Given the description of an element on the screen output the (x, y) to click on. 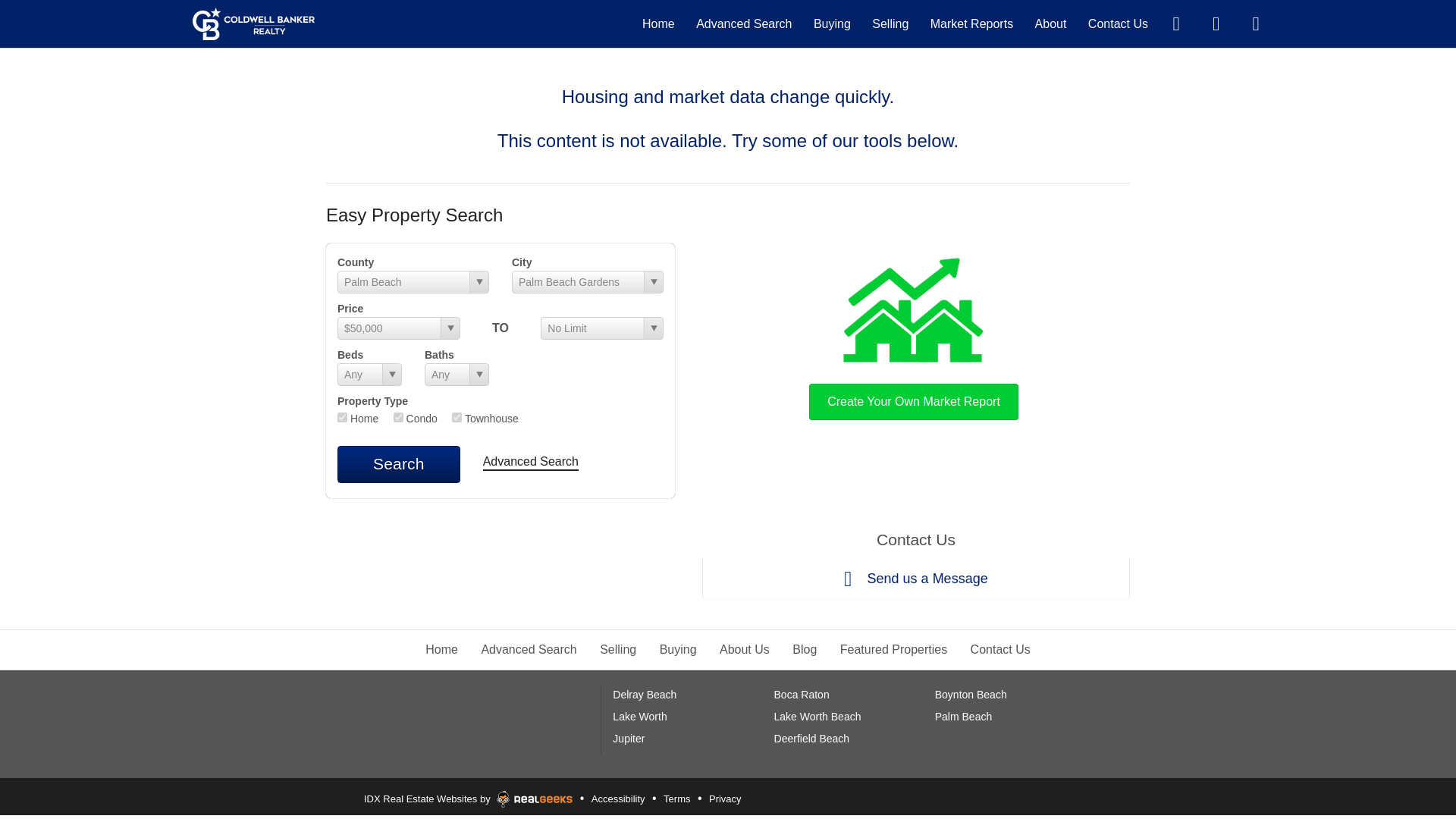
Lake Worth Beach (817, 716)
Market Reports (971, 23)
Create Your Own Market Report (913, 335)
About Us (744, 649)
Boynton Beach (970, 694)
Advanced Search (743, 23)
Advanced Search (530, 462)
Deerfield Beach (812, 738)
Blog (804, 649)
Boca Raton (801, 694)
Delray Beach (644, 694)
Jupiter (628, 738)
Home (441, 649)
Featured Properties (893, 649)
Accessibility (618, 798)
